Given the description of an element on the screen output the (x, y) to click on. 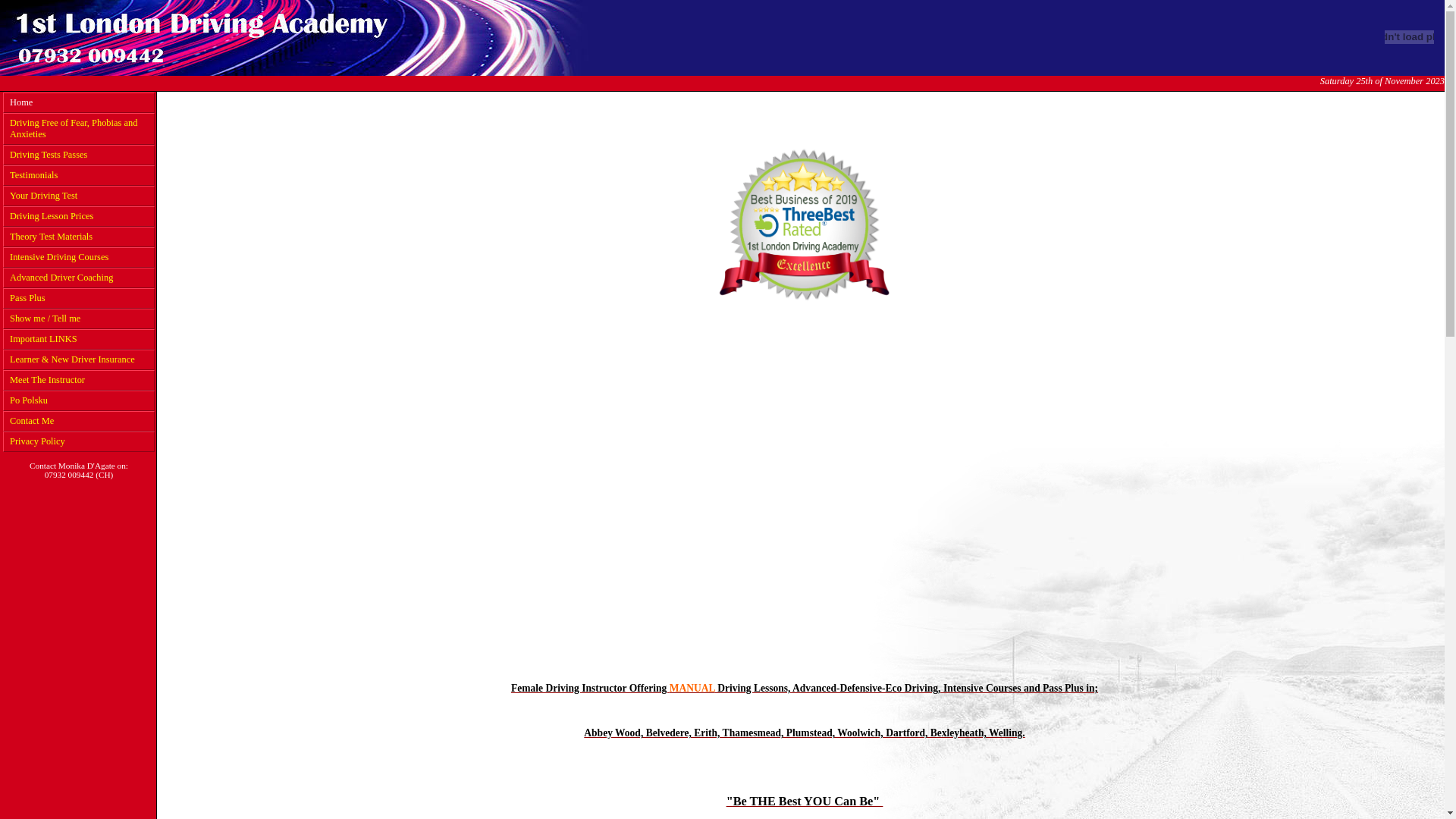
Po Polsku Element type: text (78, 400)
Meet The Instructor Element type: text (78, 380)
Theory Test Materials Element type: text (78, 236)
Contact Me Element type: text (78, 421)
Important LINKS Element type: text (78, 339)
Privacy Policy Element type: text (78, 441)
Home Element type: text (78, 102)
Driving Lesson Prices Element type: text (78, 216)
"Be THE Best YOU Can Be"  Element type: text (804, 801)
Intensive Driving Courses Element type: text (78, 257)
Driving Tests Passes Element type: text (78, 154)
Your Driving Test Element type: text (78, 195)
Show me / Tell me Element type: text (78, 318)
Advanced Driver Coaching Element type: text (78, 277)
Learner & New Driver Insurance Element type: text (78, 359)
Testimonials Element type: text (78, 175)
Driving Free of Fear, Phobias and Anxieties Element type: text (78, 128)
Pass Plus Element type: text (78, 298)
